Given the description of an element on the screen output the (x, y) to click on. 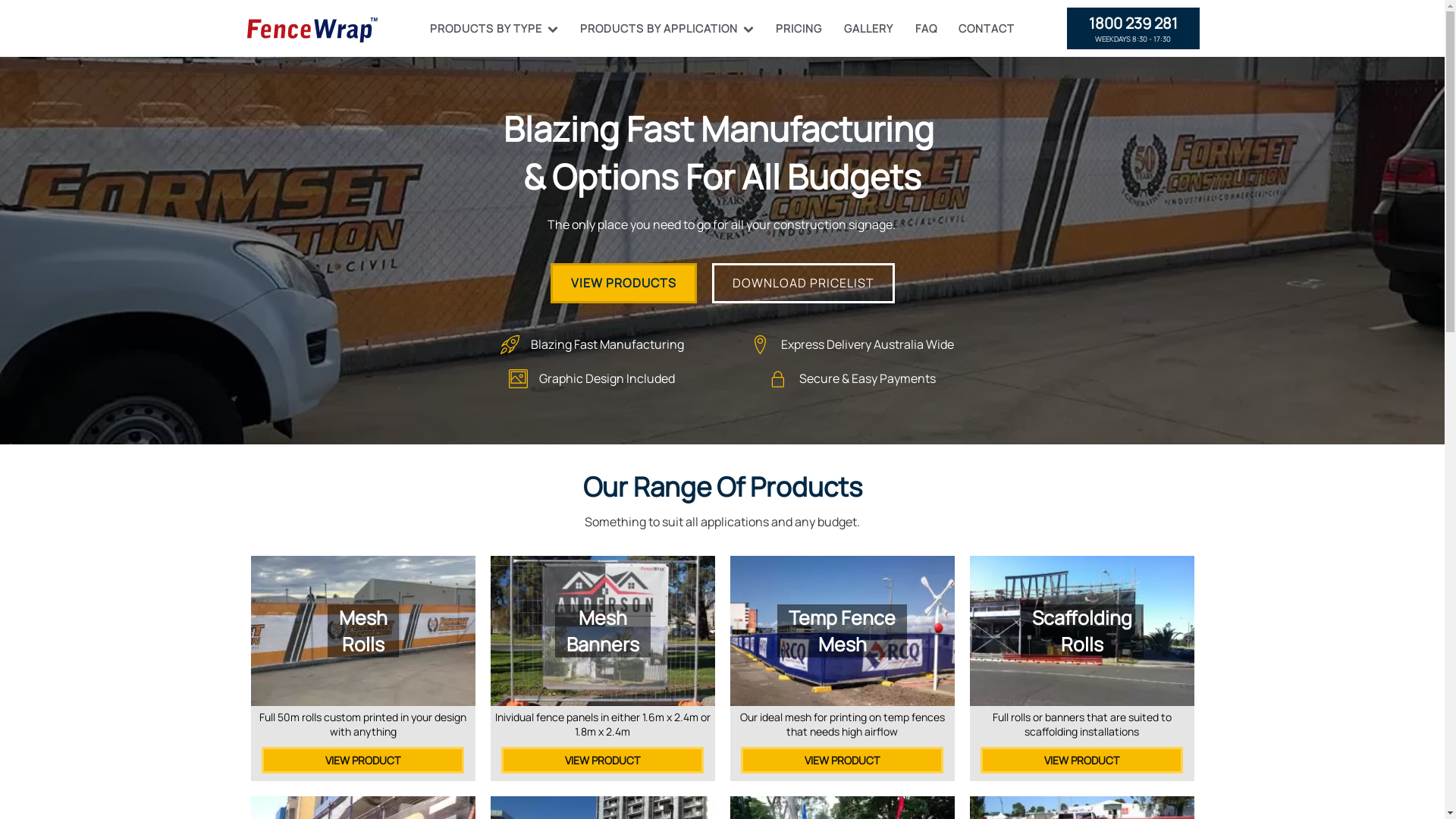
1800 239 281 Element type: text (1132, 23)
PRODUCTS BY APPLICATION Element type: text (666, 28)
PRODUCTS BY TYPE Element type: text (493, 28)
FAQ Element type: text (925, 28)
CONTACT Element type: text (986, 28)
GALLERY Element type: text (867, 28)
PRICING Element type: text (798, 28)
DOWNLOAD PRICELIST Element type: text (802, 282)
VIEW PRODUCTS Element type: text (623, 282)
